Given the description of an element on the screen output the (x, y) to click on. 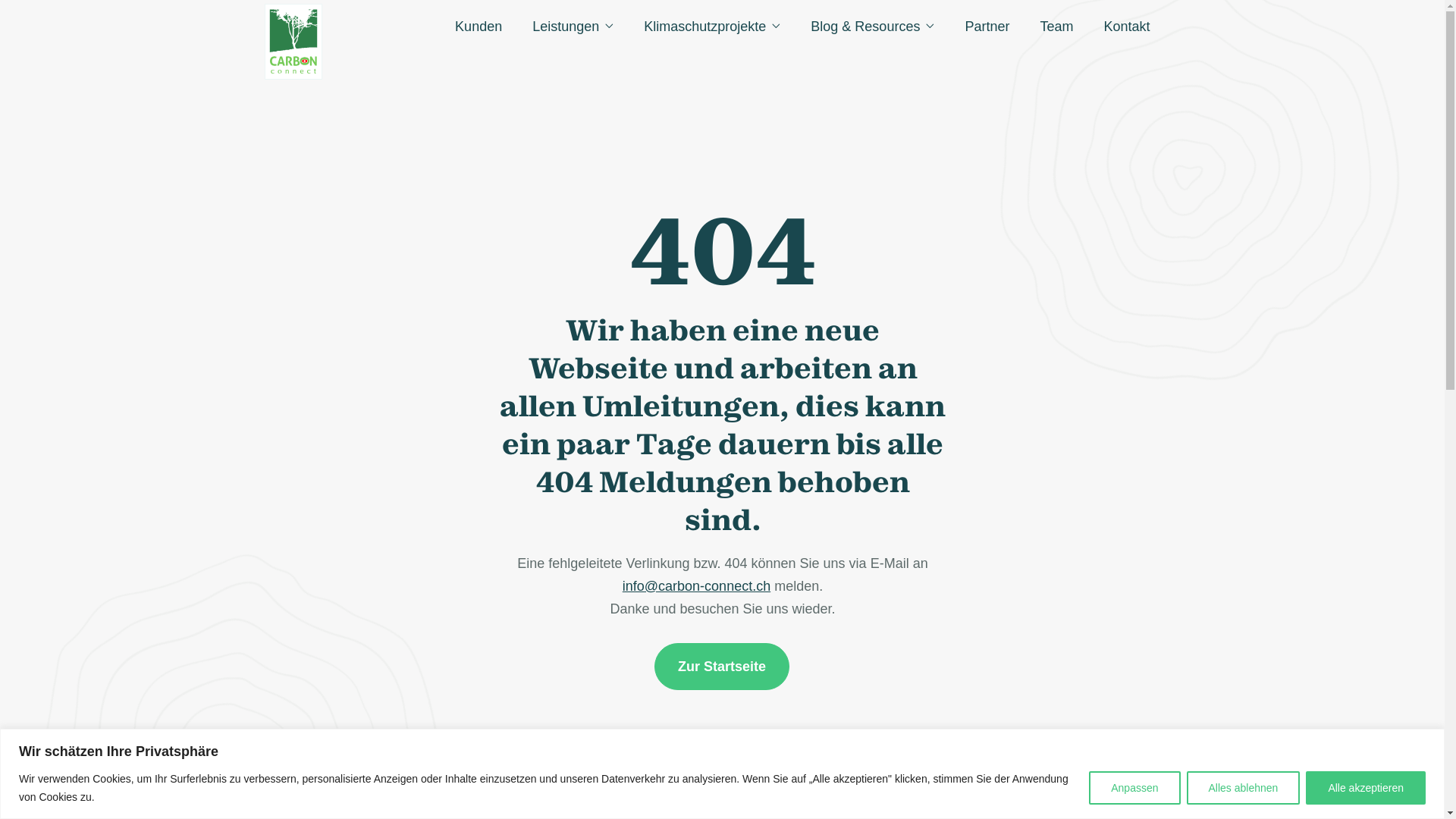
Partner Element type: text (986, 26)
Alle akzeptieren Element type: text (1365, 786)
Leistungen Element type: text (565, 26)
Blog & Resources Element type: text (864, 26)
Klimaschutzprojekte Element type: text (704, 26)
Team Element type: text (1056, 26)
Kontakt Element type: text (1126, 26)
Alles ablehnen Element type: text (1243, 786)
Kunden Element type: text (478, 26)
Anpassen Element type: text (1133, 786)
info@carbon-connect.ch Element type: text (695, 585)
Zur Startseite Element type: text (721, 666)
